Given the description of an element on the screen output the (x, y) to click on. 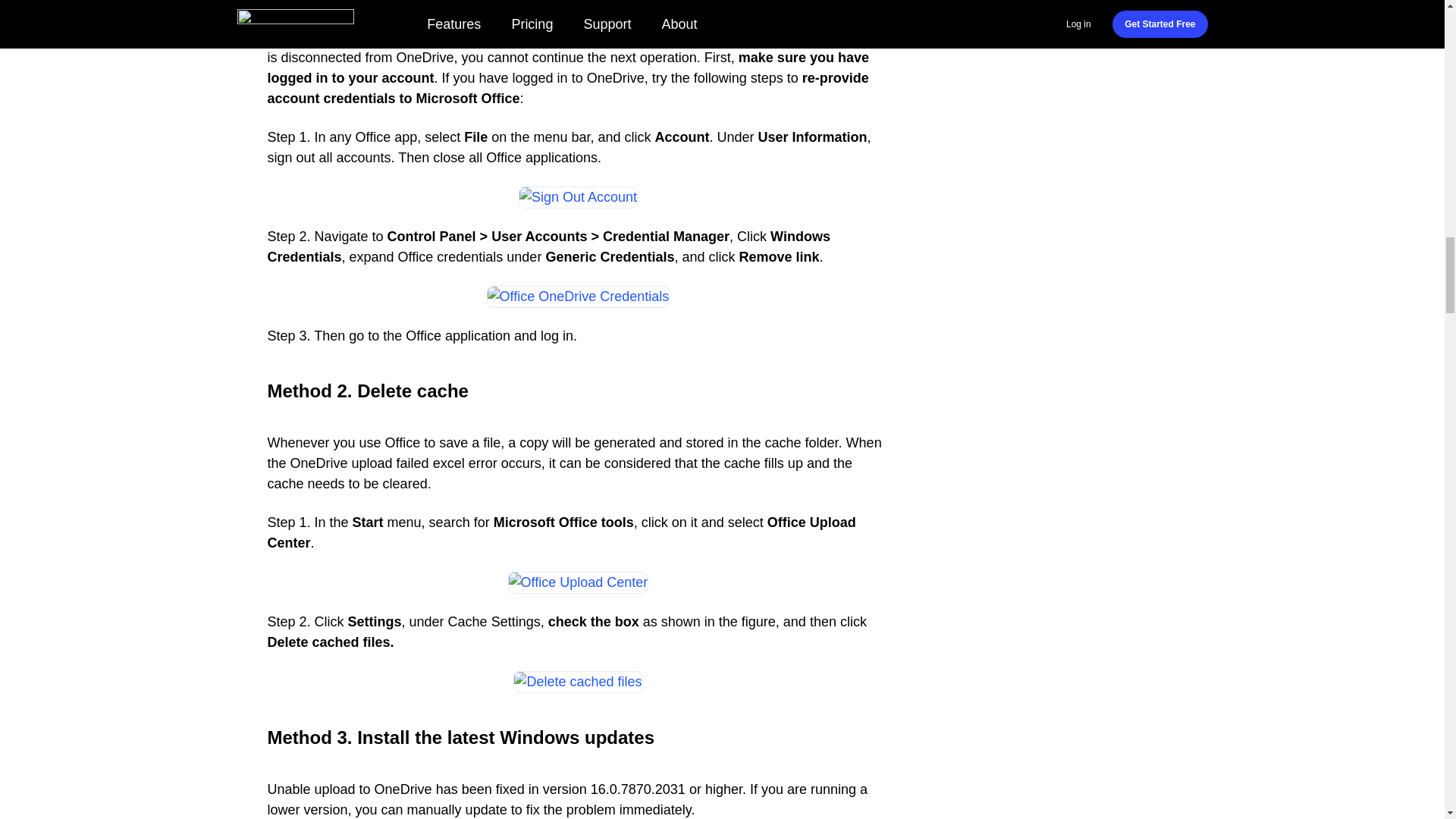
Office Upload Center (578, 582)
